Given the description of an element on the screen output the (x, y) to click on. 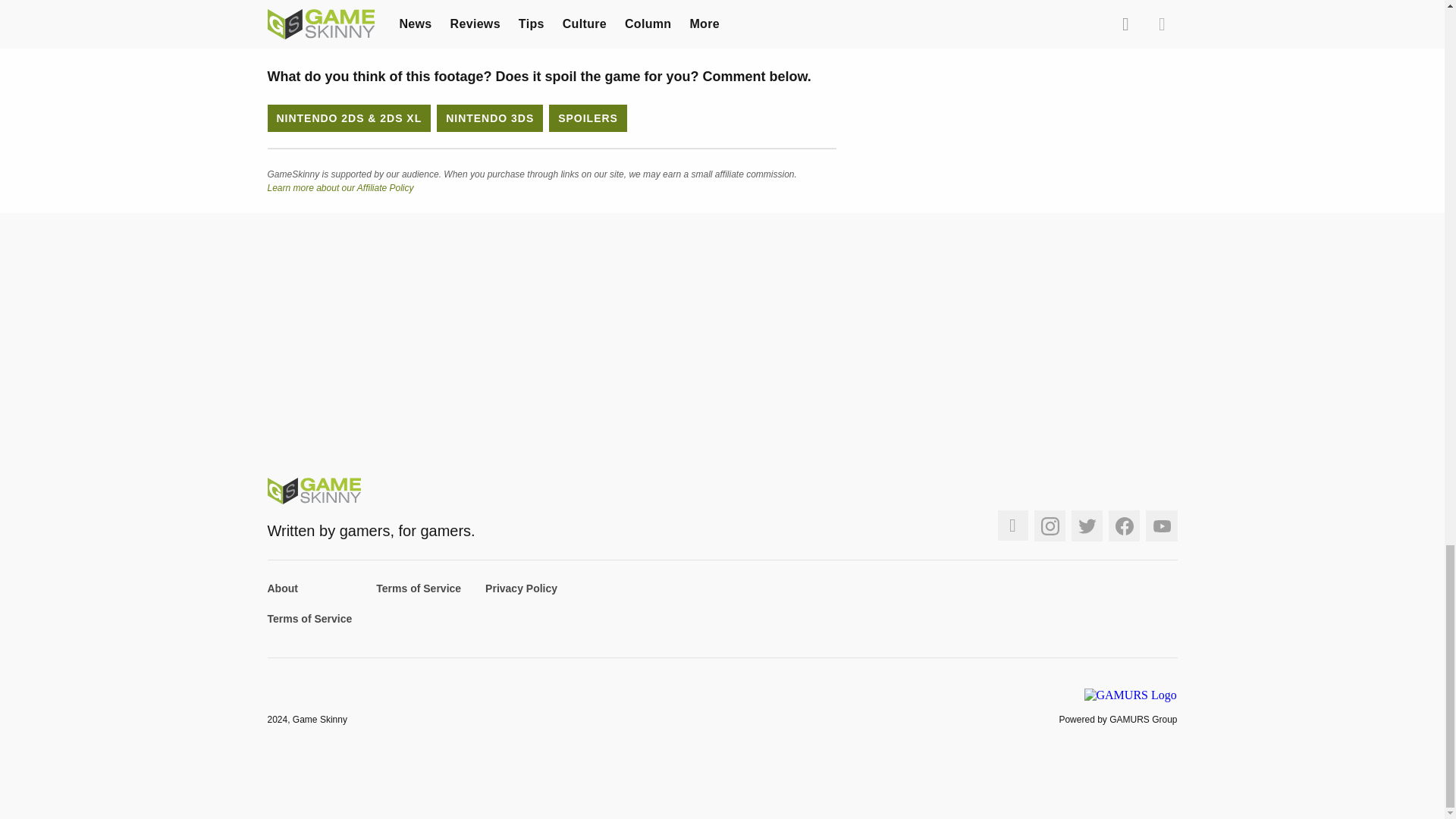
Learn more about our Affiliate Policy (339, 187)
SPOILERS (587, 117)
NINTENDO 3DS (489, 117)
